Given the description of an element on the screen output the (x, y) to click on. 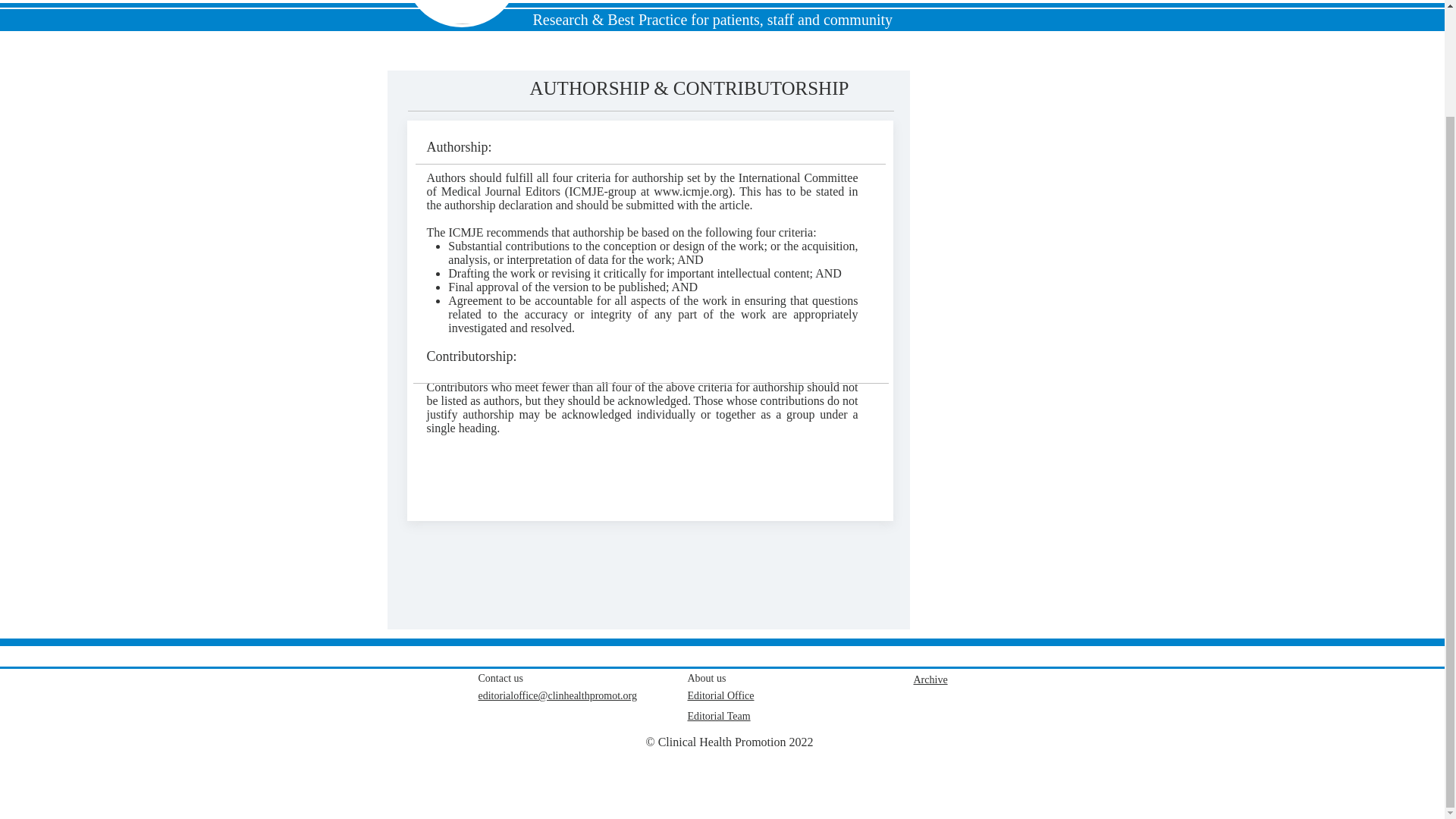
Green logo cropped org green.png (461, 12)
Editorial Team (718, 715)
www.icmje.org (690, 191)
Archive (929, 679)
Editorial Office (720, 695)
